Given the description of an element on the screen output the (x, y) to click on. 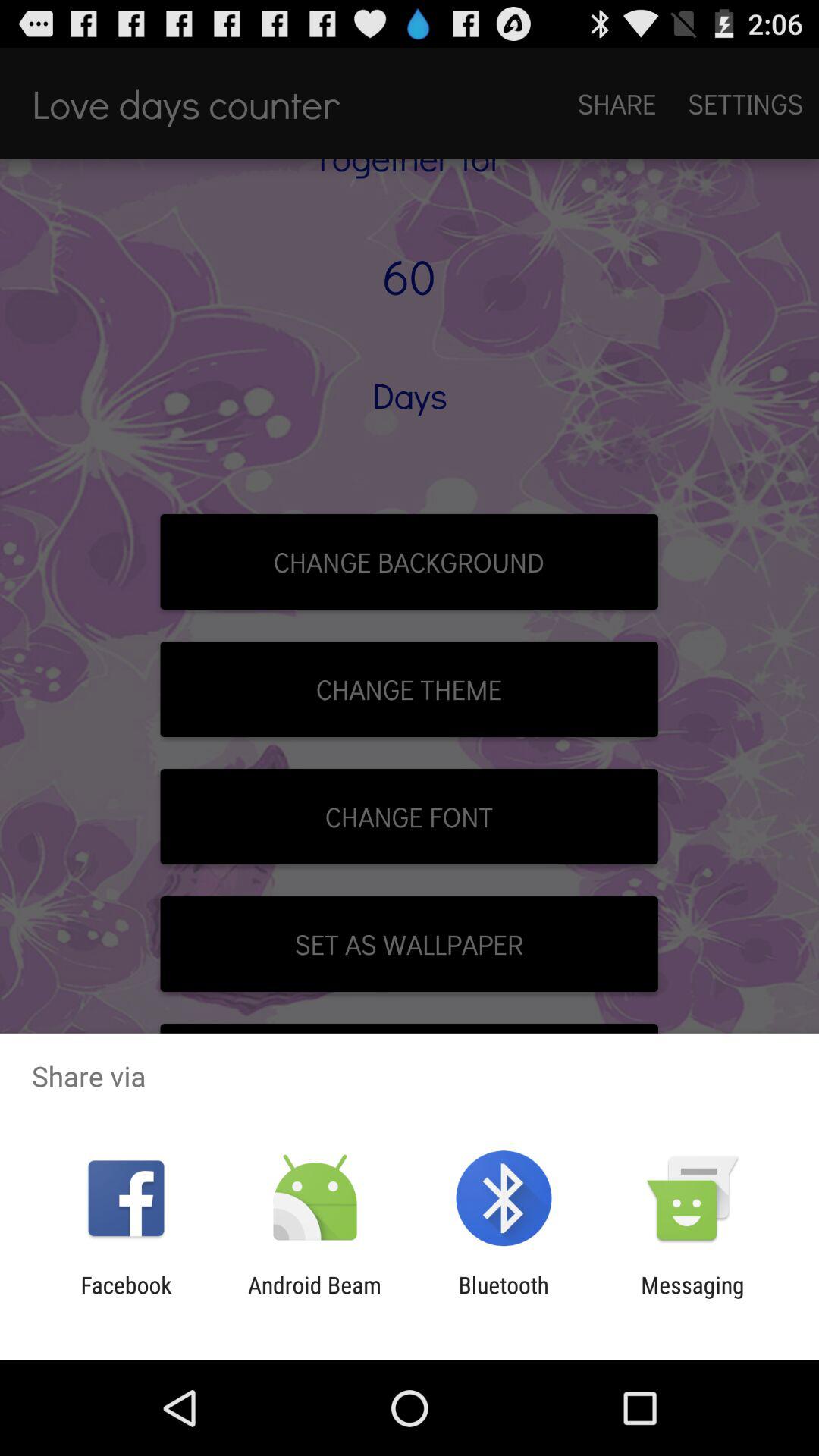
click item next to android beam app (503, 1298)
